Given the description of an element on the screen output the (x, y) to click on. 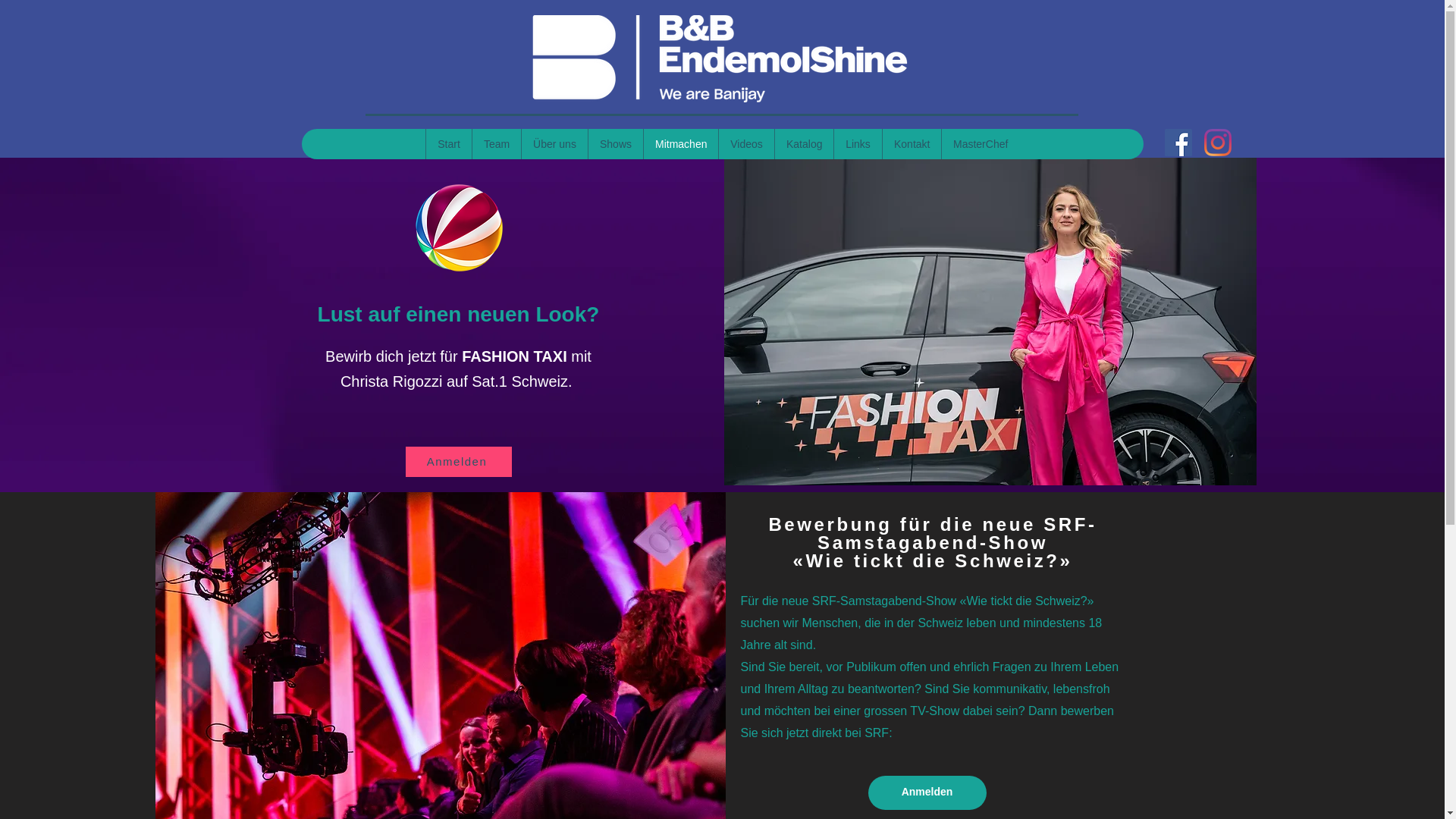
Shows Element type: text (615, 143)
Katalog Element type: text (803, 143)
Team Element type: text (495, 143)
Start Element type: text (448, 143)
MasterChef Element type: text (980, 143)
Kontakt Element type: text (911, 143)
SAT1_3D_BM_RGB.png Element type: hover (458, 227)
Anmelden Element type: text (926, 792)
Videos Element type: text (746, 143)
Links Element type: text (857, 143)
Mitmachen Element type: text (680, 143)
Anmelden Element type: text (457, 460)
